Given the description of an element on the screen output the (x, y) to click on. 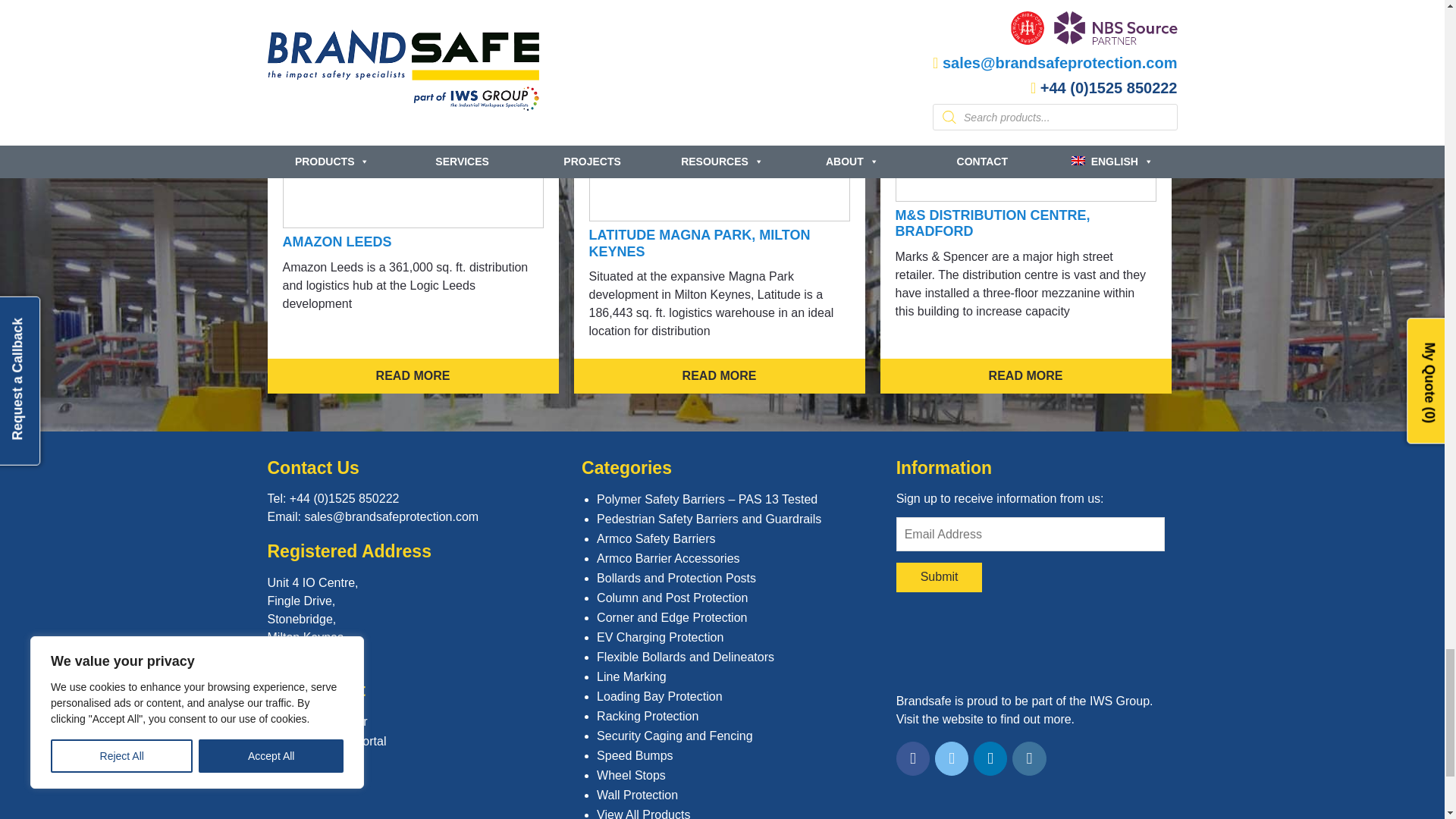
Brandsafe Protection on Linkedin (990, 758)
Brandsafe Protection on Instagram (1028, 758)
Brandsafe Protection on X Twitter (951, 758)
Brandsafe Protection on Facebook (913, 758)
Submit (939, 577)
